Given the description of an element on the screen output the (x, y) to click on. 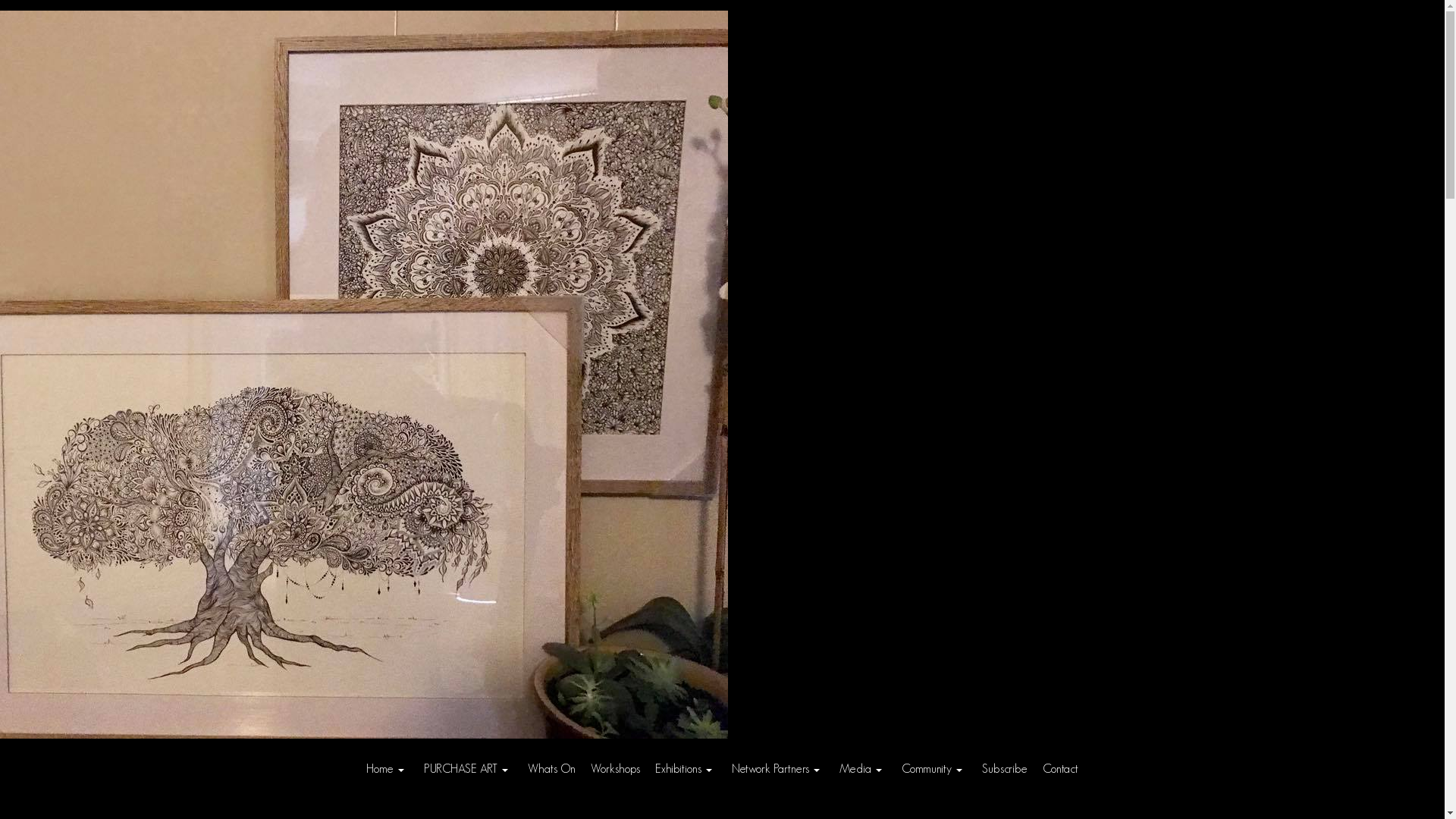
Community Element type: text (933, 768)
Home Element type: text (387, 768)
Media Element type: text (862, 768)
Exhibitions Element type: text (685, 768)
Whats On Element type: text (551, 768)
Subscribe Element type: text (1004, 768)
PURCHASE ART Element type: text (467, 768)
Contact Element type: text (1060, 768)
Network Partners Element type: text (777, 768)
Workshops Element type: text (615, 768)
